Given the description of an element on the screen output the (x, y) to click on. 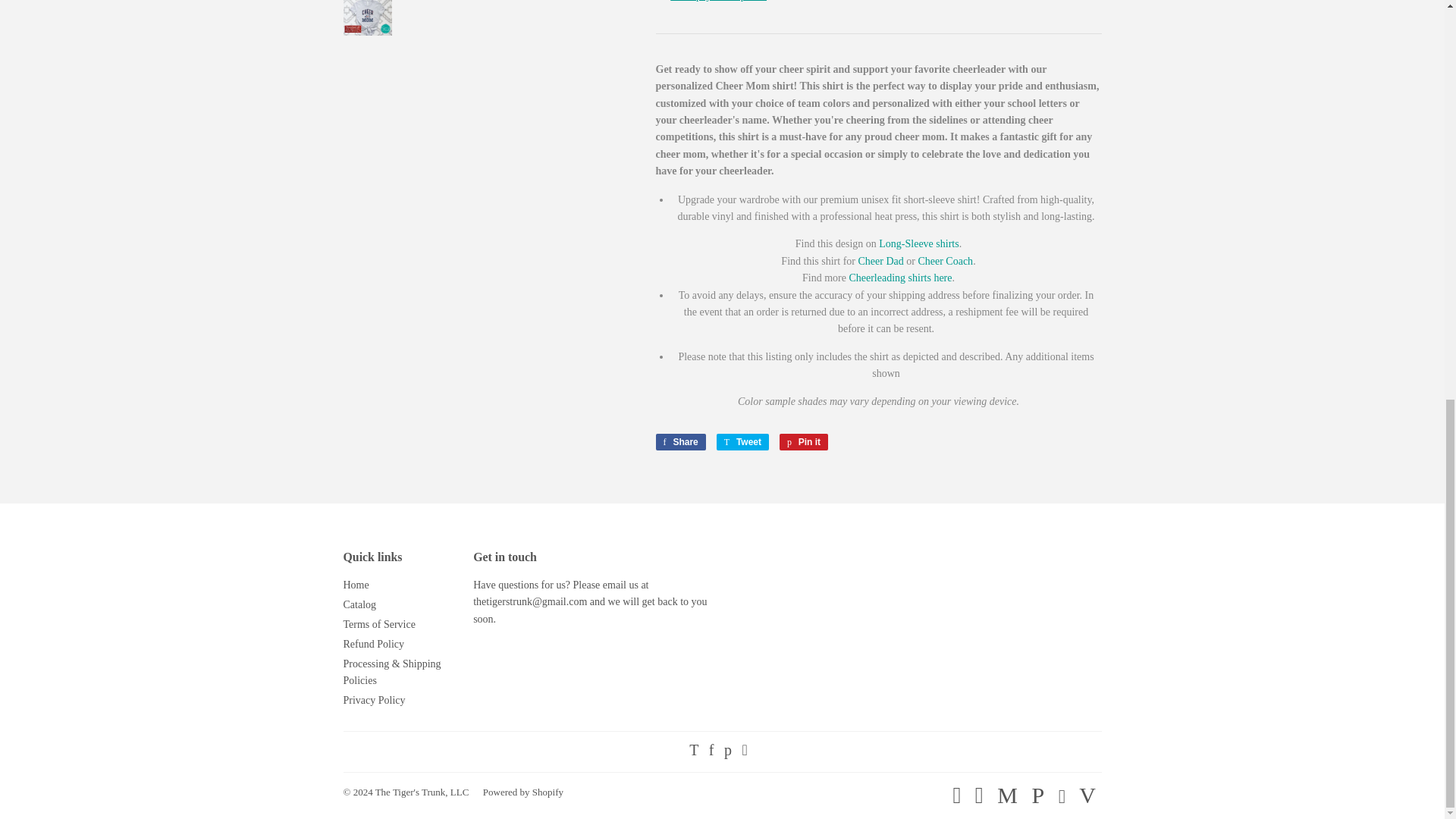
Cheer Dad short-sleeve shirt (879, 260)
Tweet on Twitter (742, 442)
Cheer Mom long-sleeve shirt (918, 243)
Cheerleading and Gymnastics (900, 277)
Share on Facebook (679, 442)
Pin on Pinterest (803, 442)
